Given the description of an element on the screen output the (x, y) to click on. 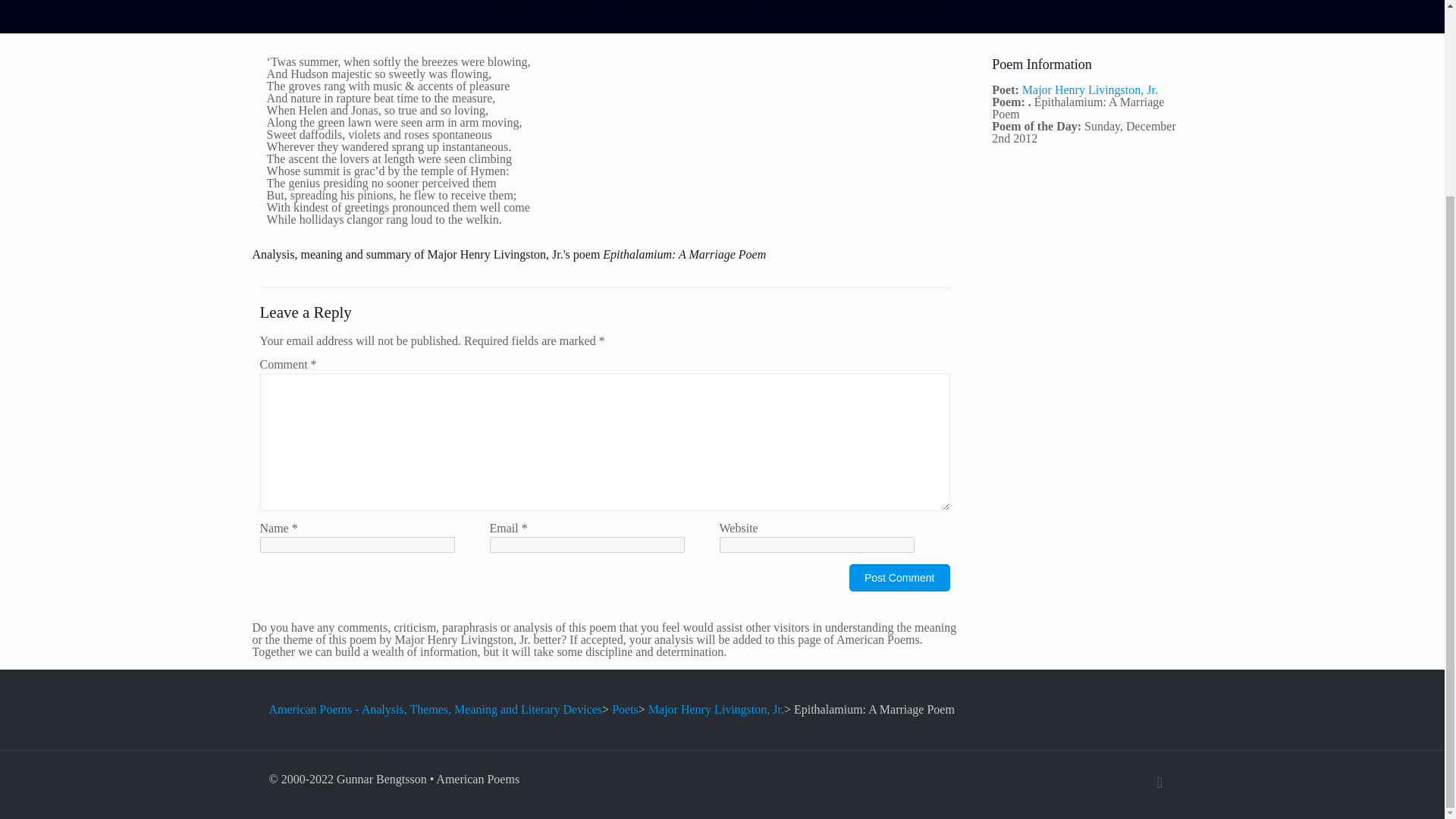
Go to Poets. (625, 708)
Major Henry Livingston, Jr. (715, 708)
Poets (573, 5)
Poets (625, 708)
Major Henry Livingston, Jr. (1089, 89)
Go to Major Henry Livingston, Jr.. (715, 708)
Epithalamium: A Marriage Poem (863, 5)
Home (514, 5)
Post Comment (899, 577)
Post Comment (899, 577)
Major Henry Livingston, Jr. (684, 5)
